Given the description of an element on the screen output the (x, y) to click on. 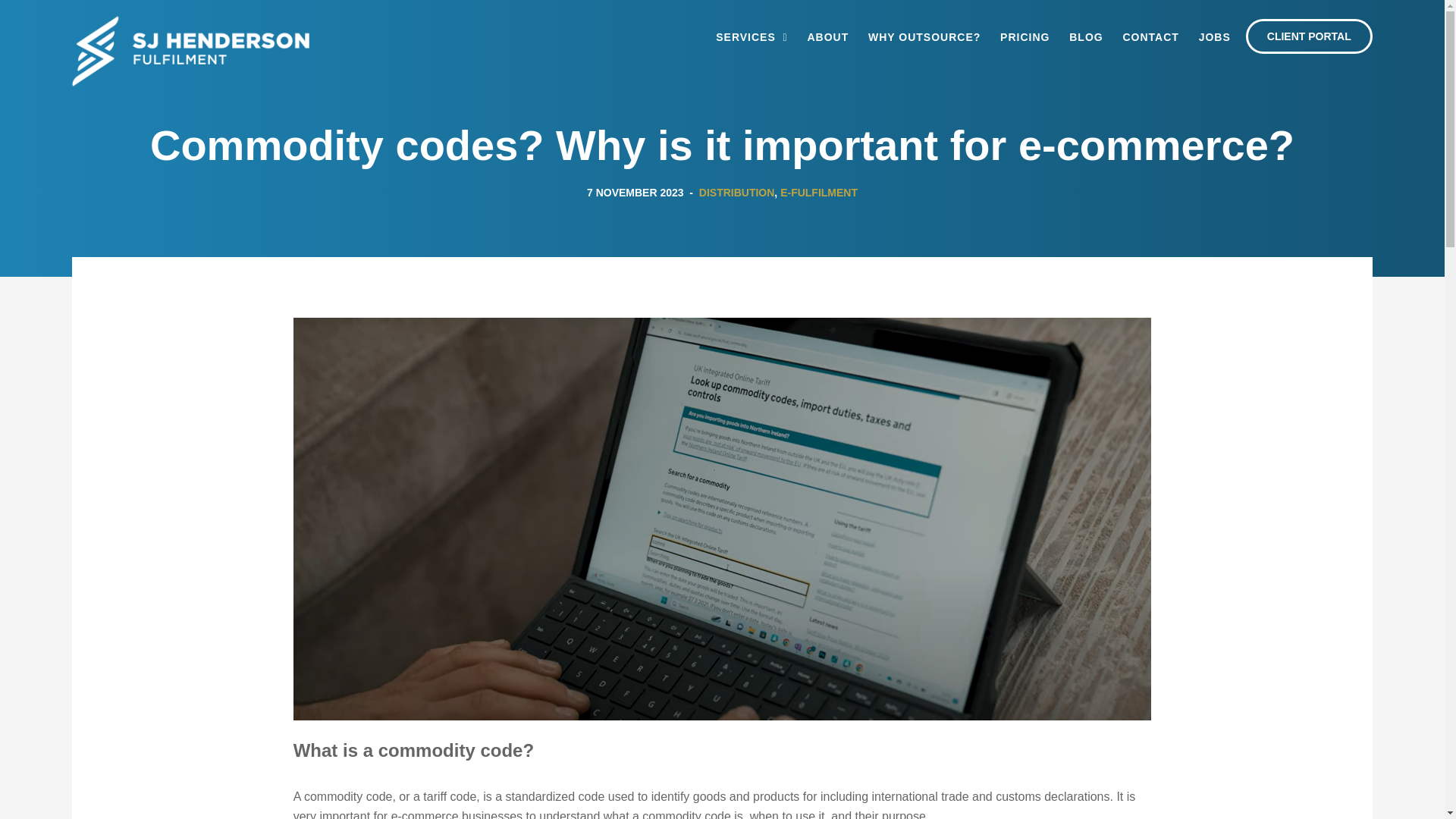
CONTACT (1149, 39)
CLIENT PORTAL (1309, 36)
PRICING (1024, 39)
SERVICES   (751, 39)
ABOUT (827, 39)
BLOG (1085, 39)
JOBS (1214, 39)
WHY OUTSOURCE? (923, 39)
DISTRIBUTION (736, 192)
E-FULFILMENT (818, 192)
